Given the description of an element on the screen output the (x, y) to click on. 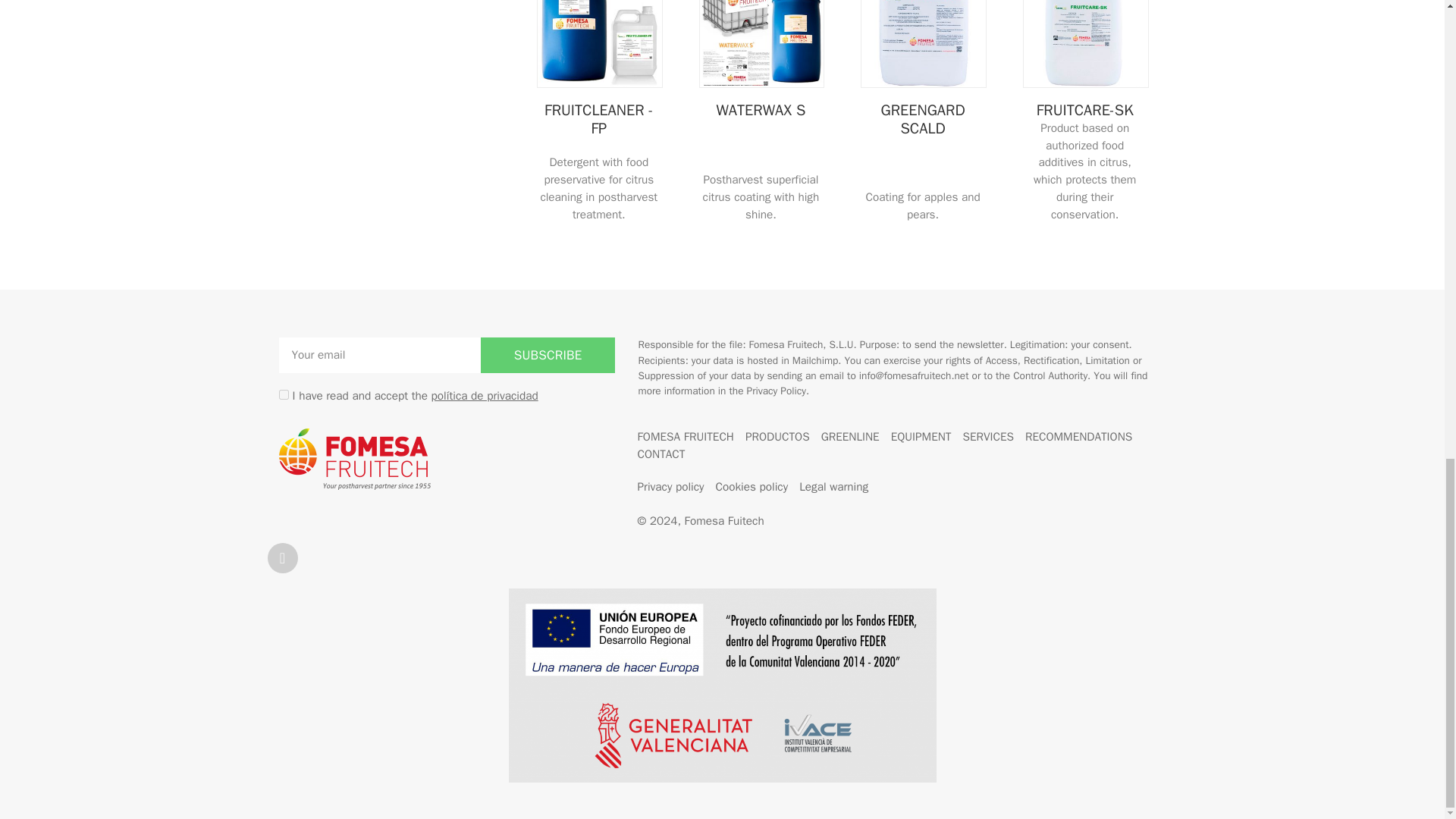
on (283, 394)
